Given the description of an element on the screen output the (x, y) to click on. 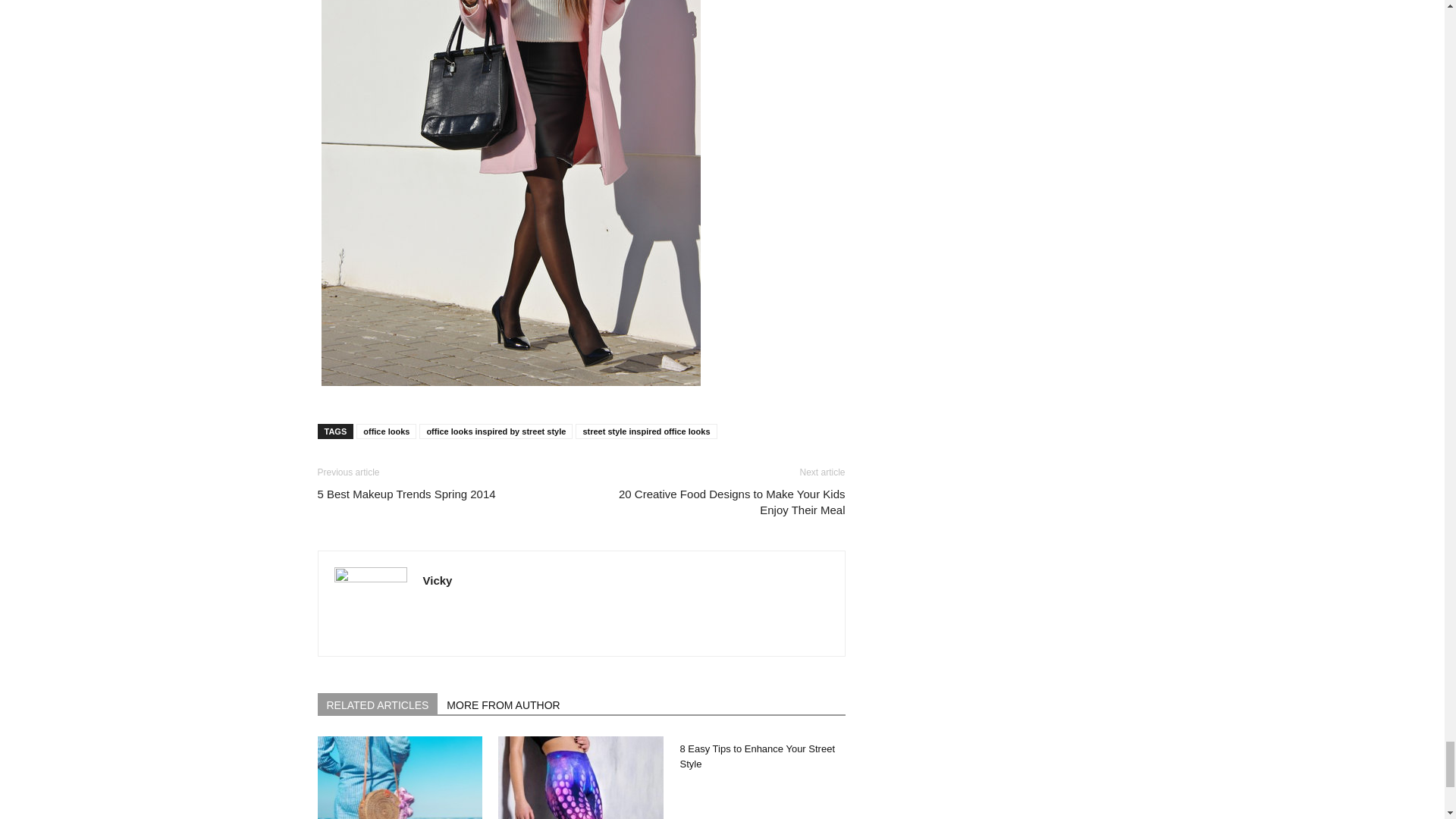
10 Animal Print Leggings That Everyone Should Have (580, 777)
5 Tips for Building Your Summer Wardrobe (399, 777)
